Given the description of an element on the screen output the (x, y) to click on. 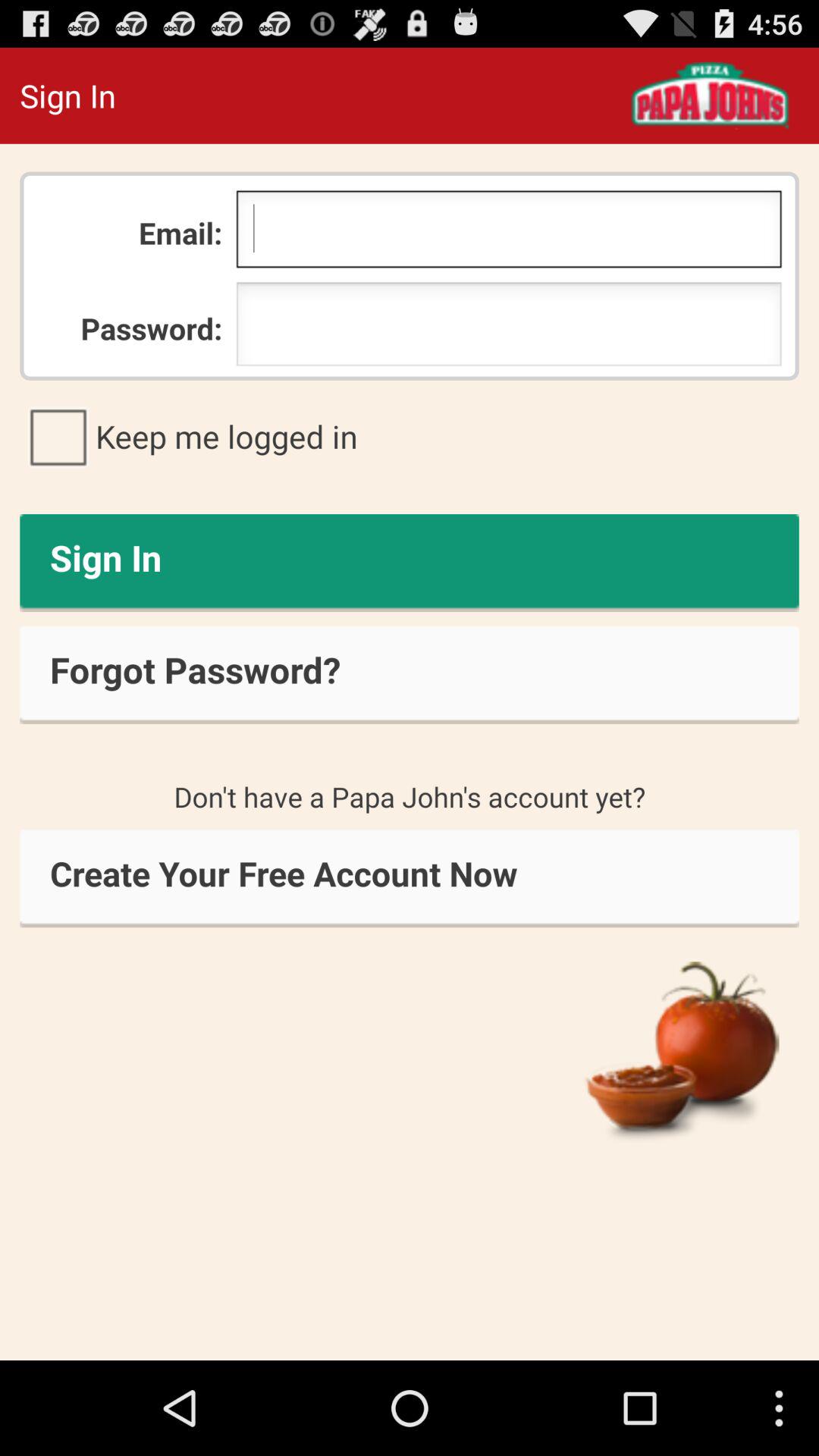
open icon above the sign in item (409, 436)
